Given the description of an element on the screen output the (x, y) to click on. 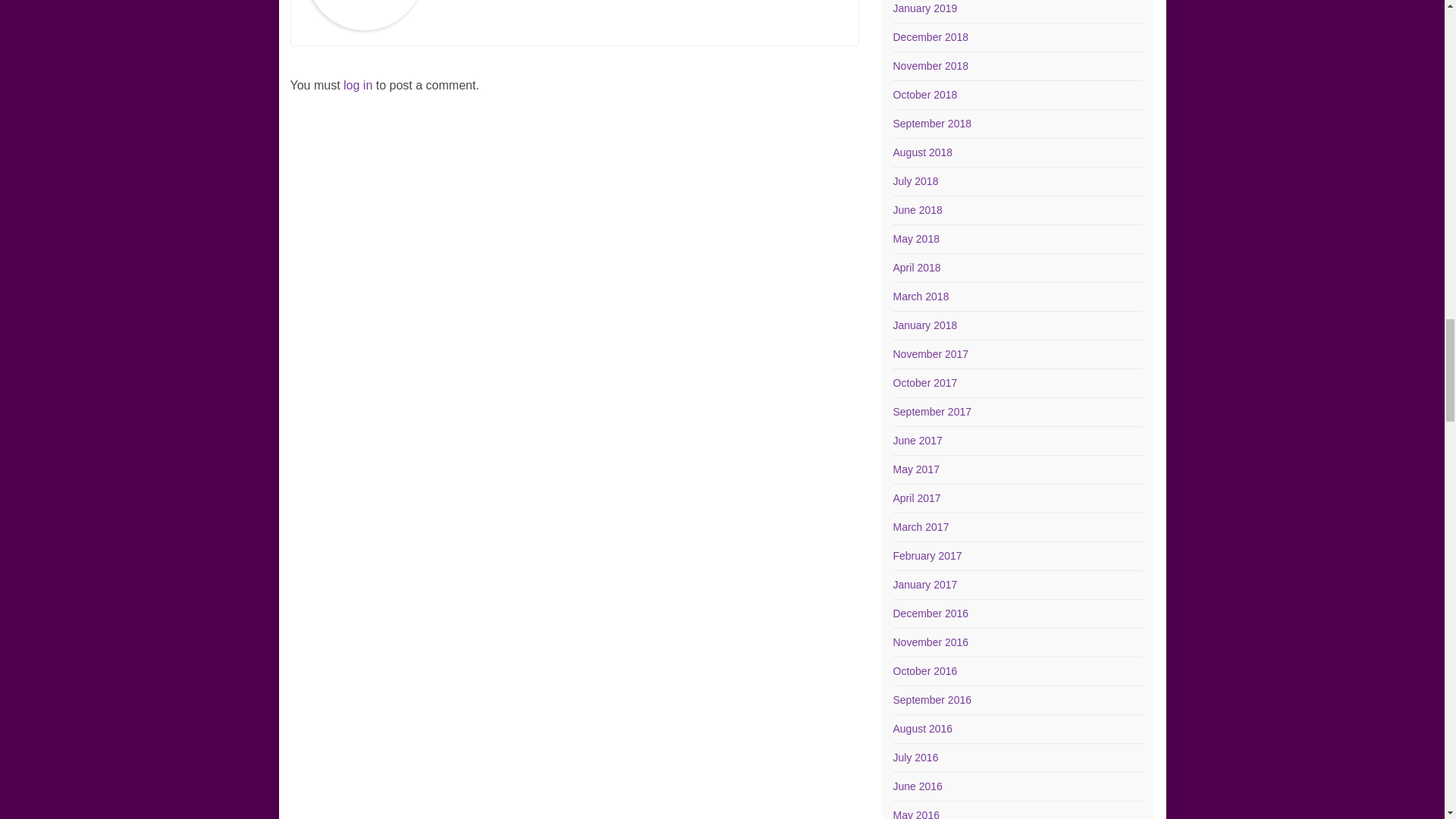
log in (357, 84)
